Given the description of an element on the screen output the (x, y) to click on. 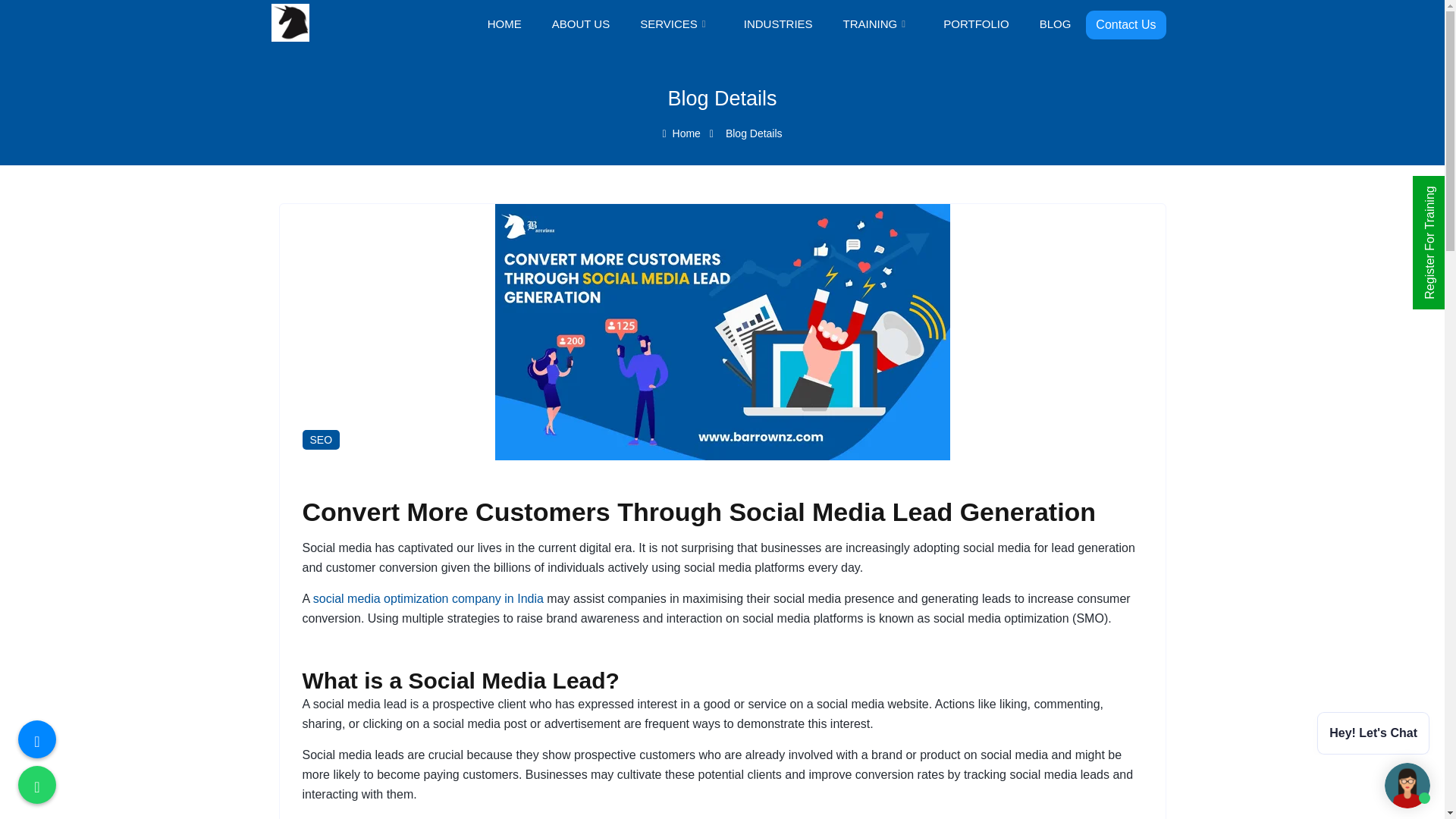
SERVICES (676, 24)
HOME (504, 24)
ABOUT US (580, 24)
